Given the description of an element on the screen output the (x, y) to click on. 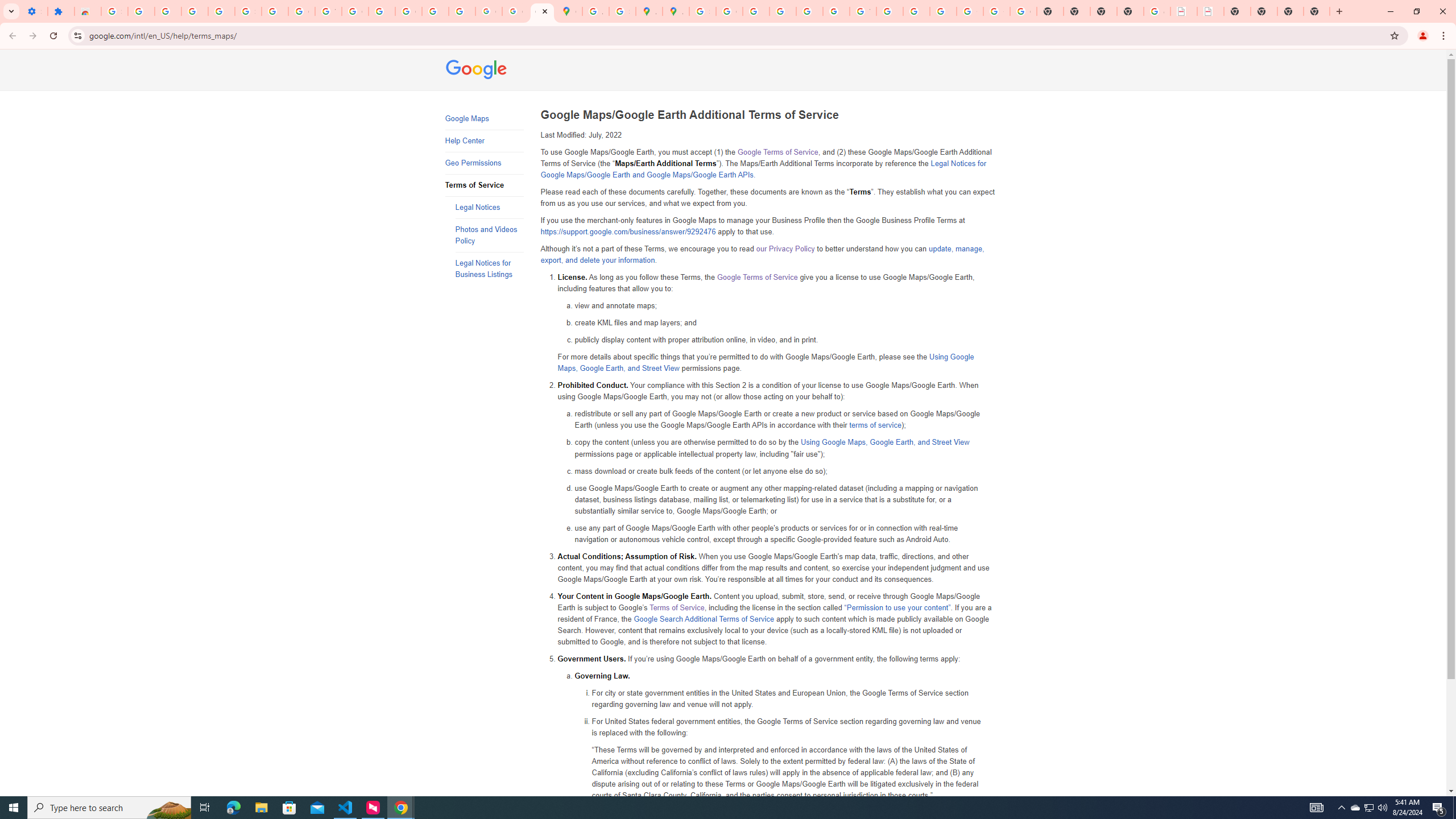
YouTube (862, 11)
Google Search Additional Terms of Service (703, 618)
Photos and Videos Policy (489, 235)
Sign in - Google Accounts (248, 11)
Sign in - Google Accounts (114, 11)
